Given the description of an element on the screen output the (x, y) to click on. 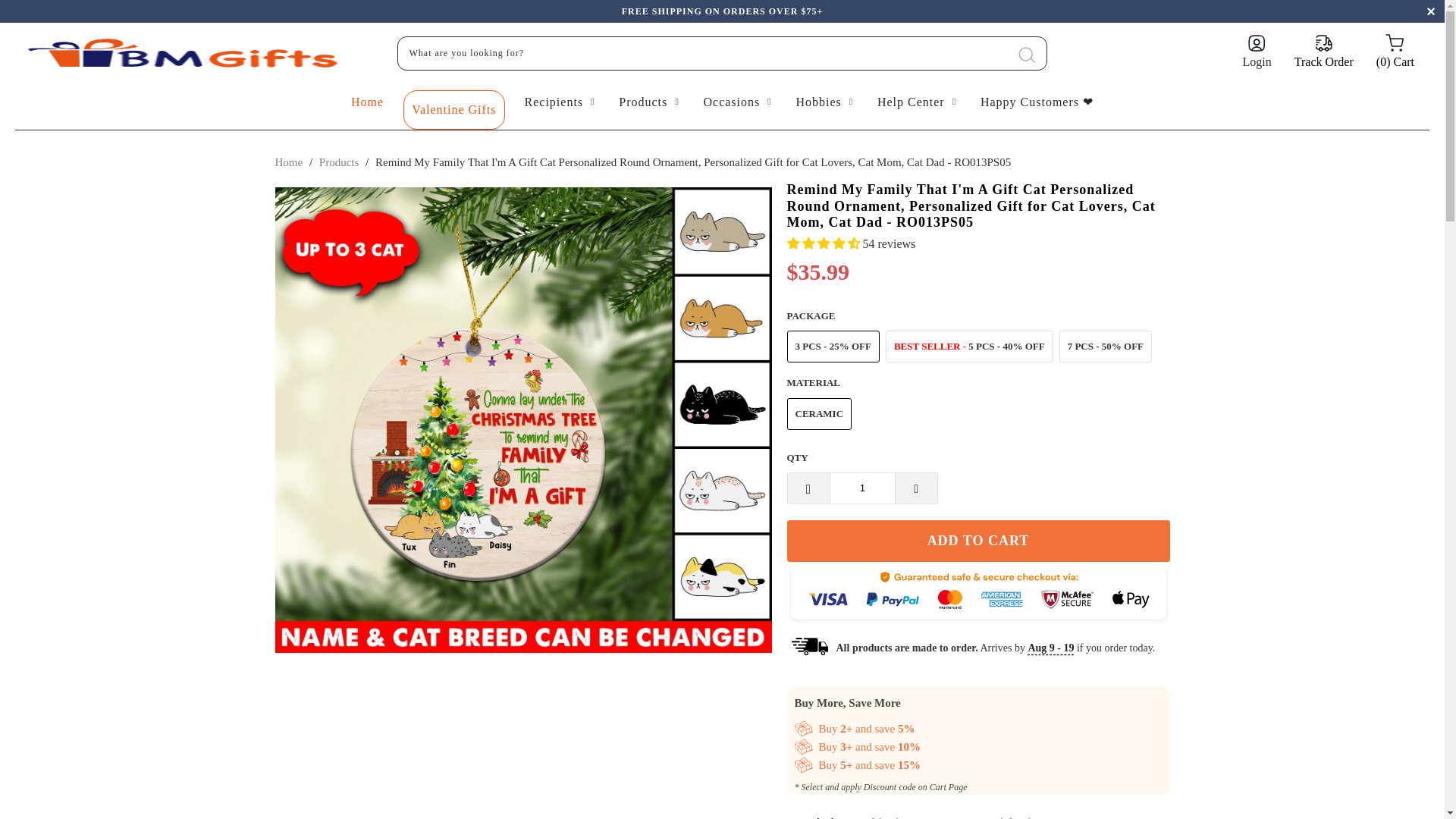
BMGifts (188, 52)
My Account  (1257, 53)
1 (862, 488)
Products (338, 162)
BMGifts (288, 162)
